Given the description of an element on the screen output the (x, y) to click on. 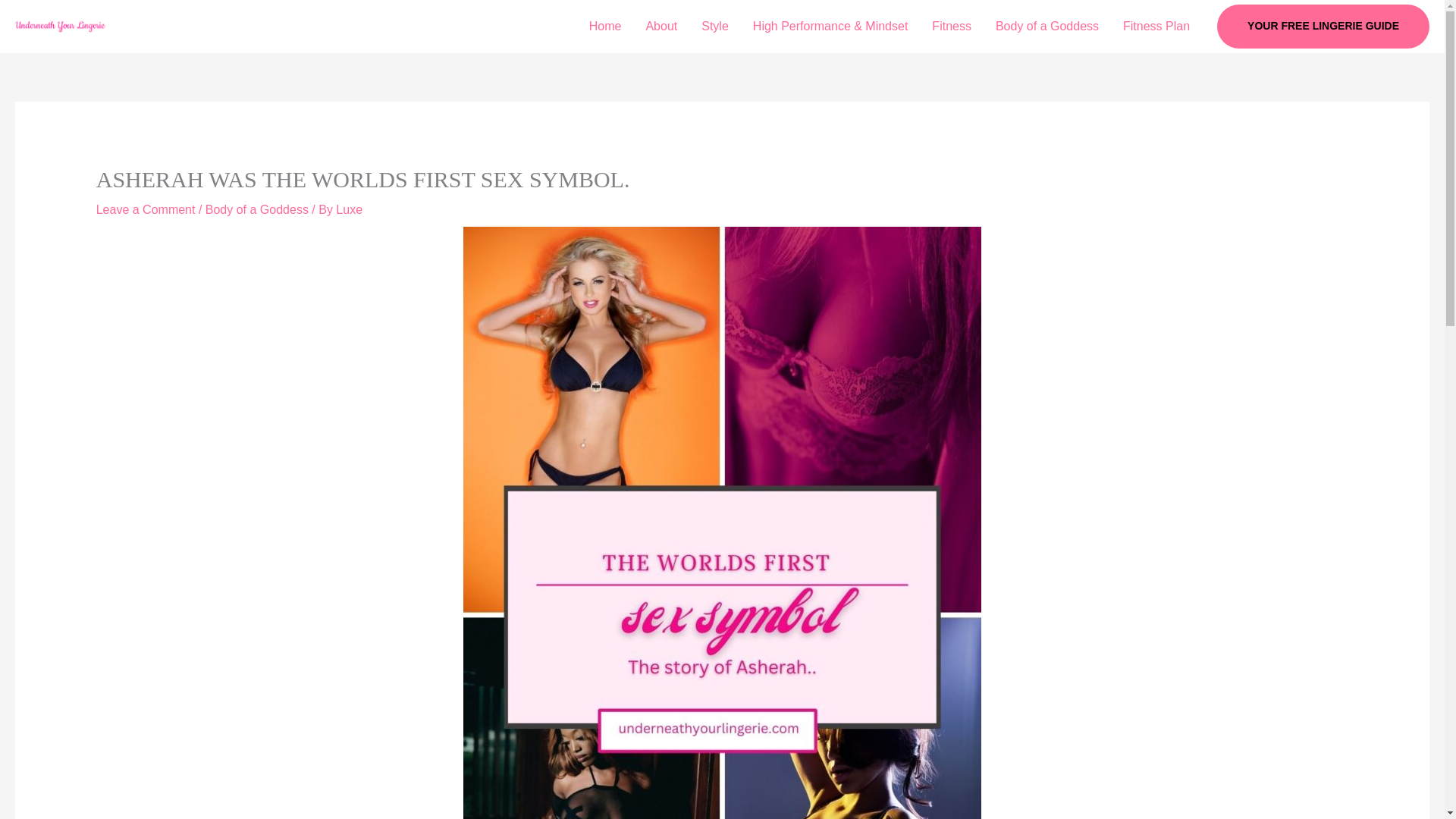
About (660, 26)
Body of a Goddess (1047, 26)
Style (714, 26)
Fitness (952, 26)
Body of a Goddess (256, 209)
Luxe (349, 209)
Leave a Comment (145, 209)
Home (604, 26)
Fitness Plan (1156, 26)
YOUR FREE LINGERIE GUIDE (1323, 26)
View all posts by Luxe (349, 209)
